Given the description of an element on the screen output the (x, y) to click on. 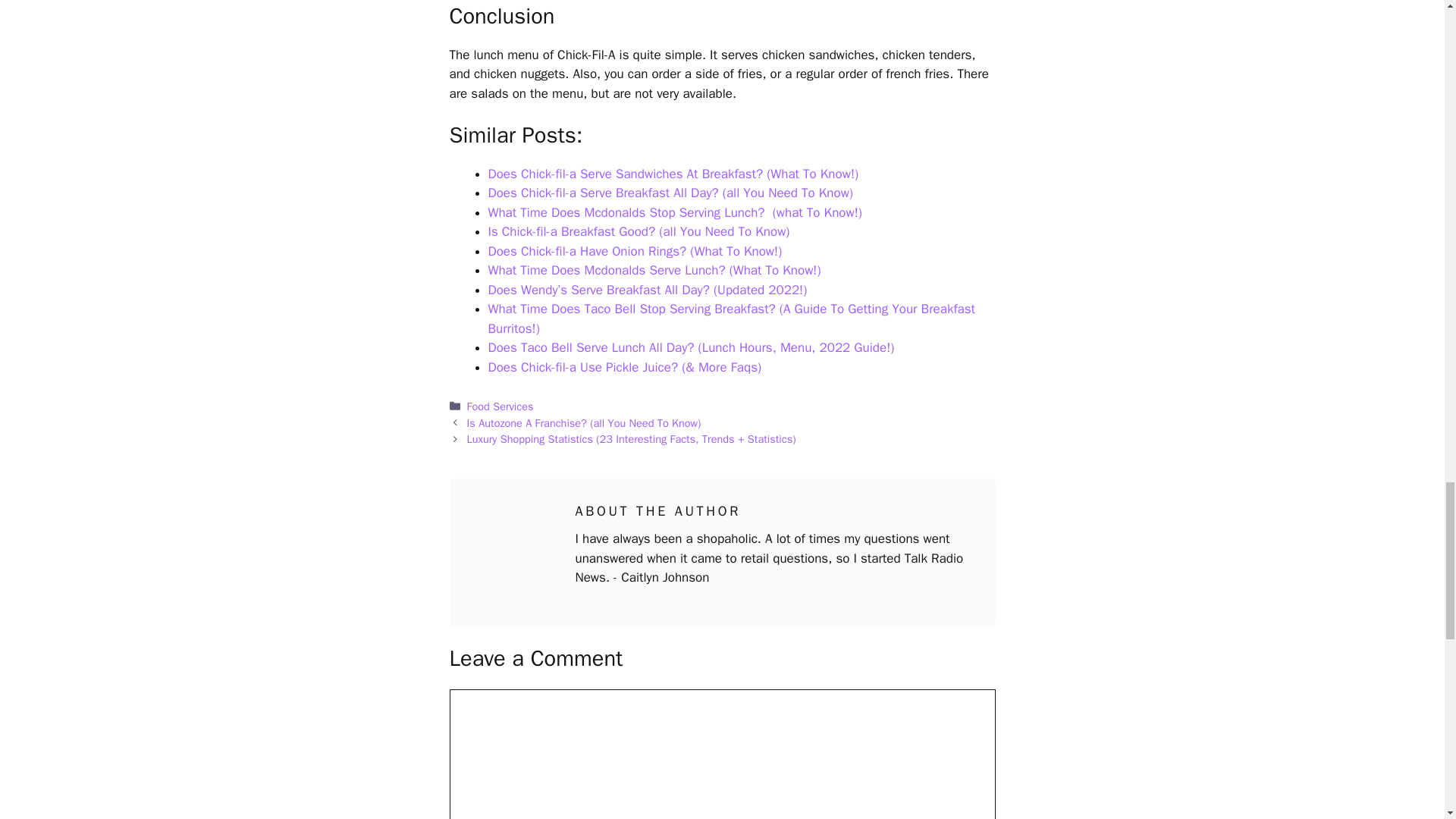
Previous (584, 422)
Next (631, 438)
Food Services (500, 406)
